Given the description of an element on the screen output the (x, y) to click on. 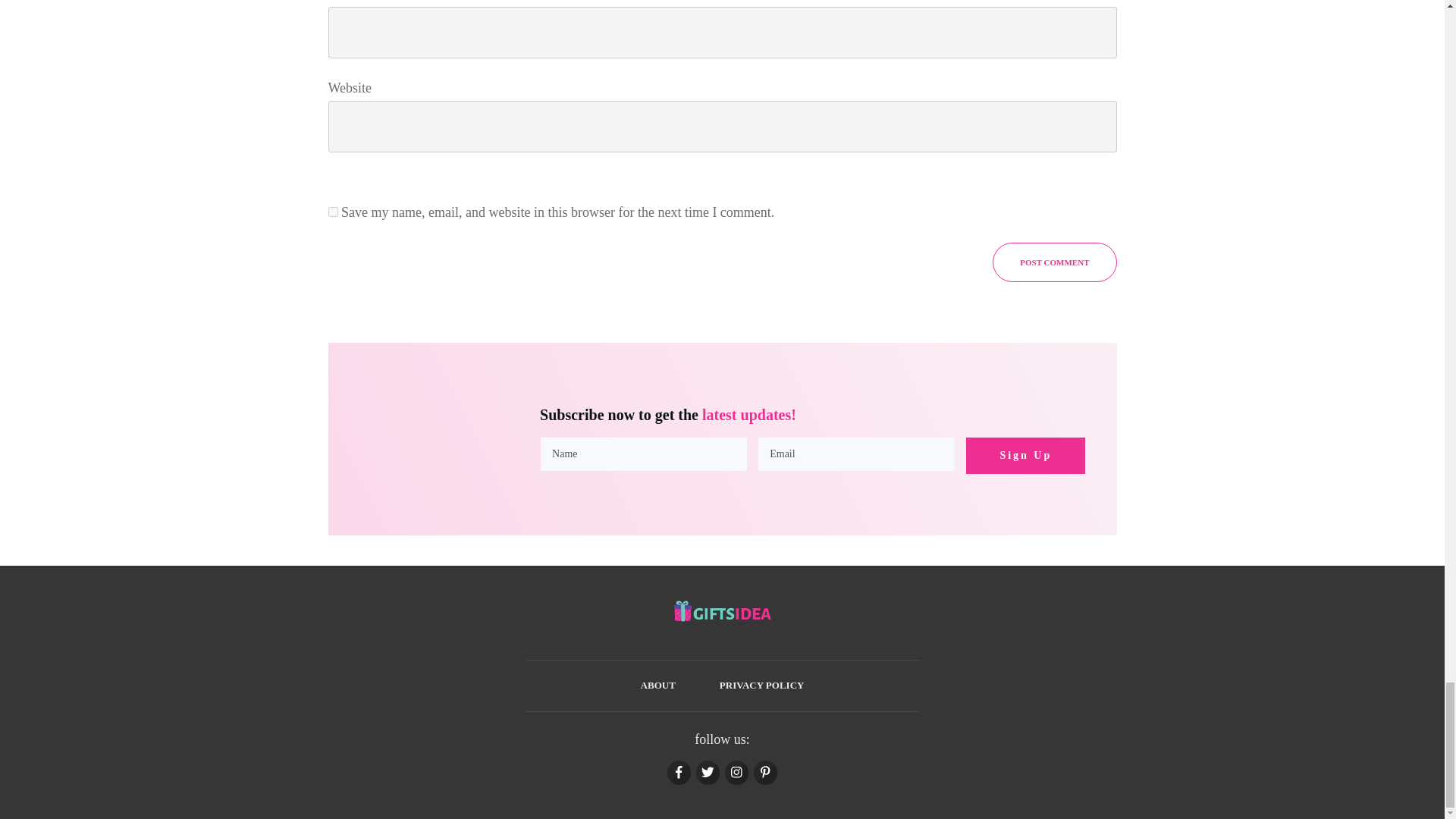
PRIVACY POLICY (762, 685)
Sign Up (1025, 455)
POST COMMENT (1054, 261)
ABOUT (657, 685)
yes (332, 212)
